Given the description of an element on the screen output the (x, y) to click on. 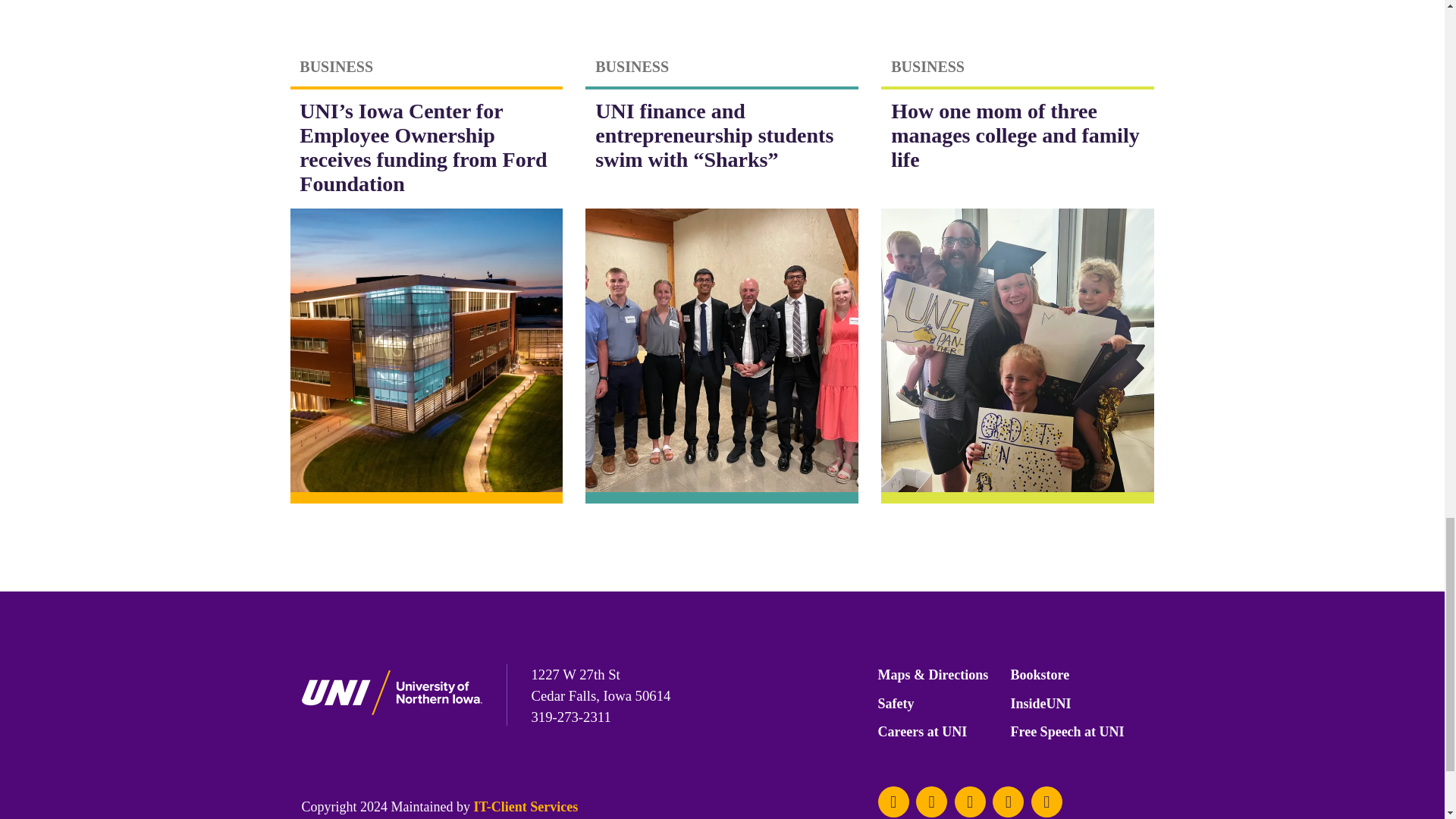
Bookstore (1039, 679)
InsideUNI (1040, 708)
Free Speech at UNI (1067, 736)
Careers at UNI (922, 736)
Safety (895, 708)
